Given the description of an element on the screen output the (x, y) to click on. 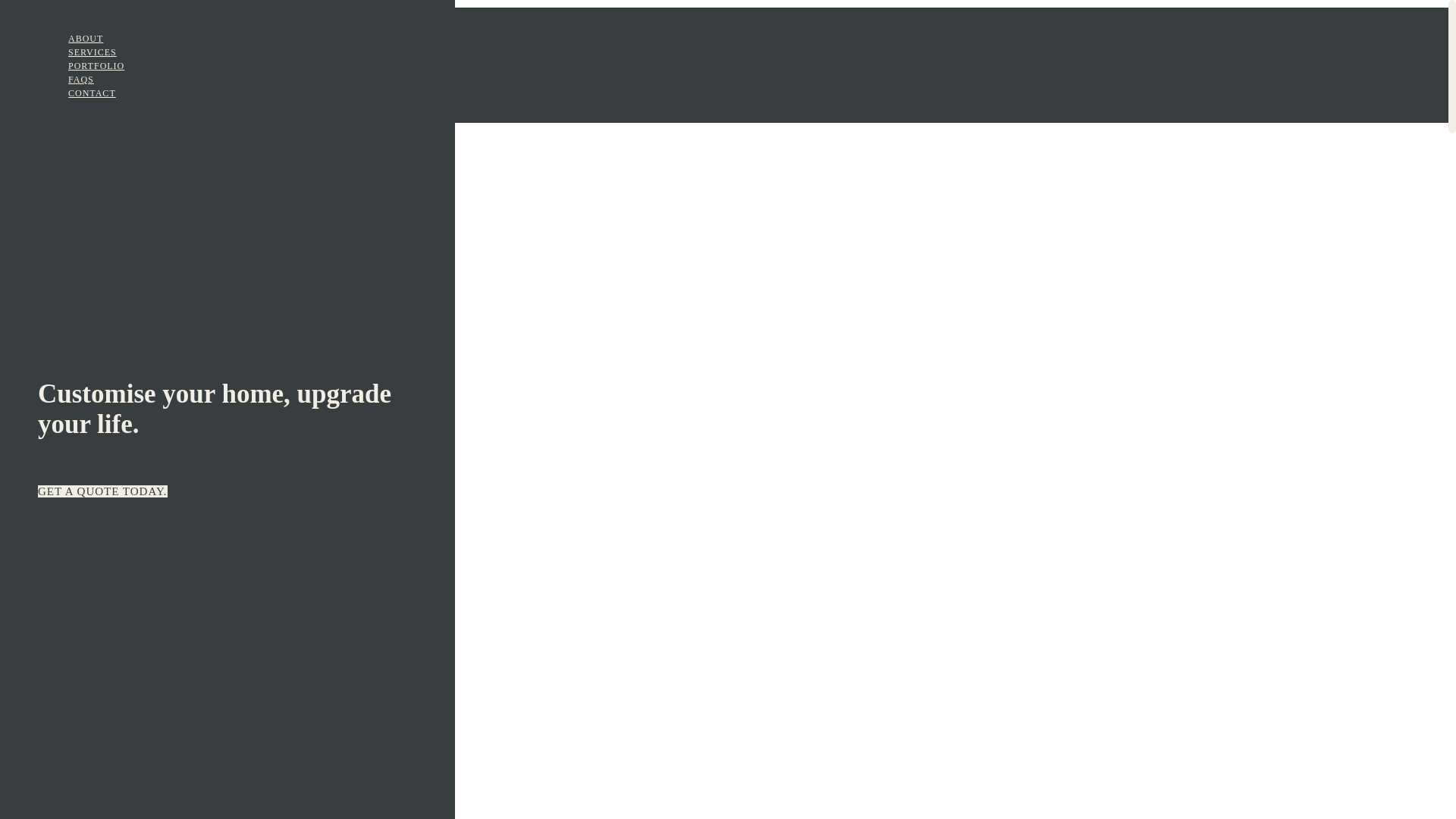
MS Interiors logo Element type: hover (72, 28)
SERVICES Element type: text (92, 52)
ABOUT Element type: text (85, 38)
PORTFOLIO Element type: text (96, 65)
CONTACT Element type: text (92, 92)
MSInteriors_mainlogo_CoconutMilk Element type: hover (37, 330)
FAQS Element type: text (81, 79)
GET A QUOTE TODAY. Element type: text (102, 491)
